Given the description of an element on the screen output the (x, y) to click on. 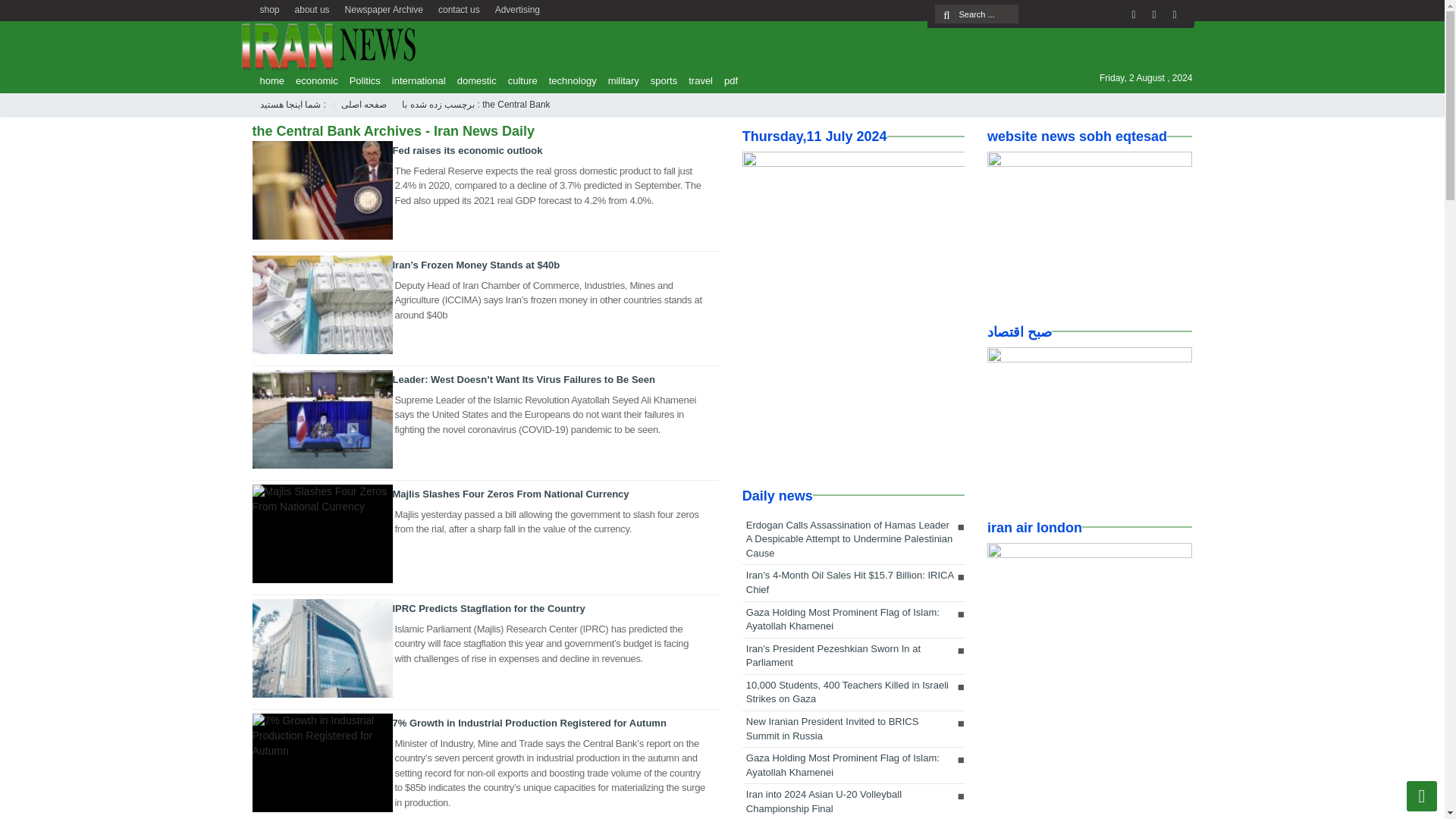
Iran News Daily (363, 104)
about us (311, 7)
military (619, 80)
international (414, 80)
Advertising (517, 7)
Fed raises its economic outlook (468, 150)
culture (518, 80)
home (267, 80)
domestic (472, 80)
technology (568, 80)
contact us (458, 7)
travel (697, 80)
economic (312, 80)
Politics (361, 80)
Newspaper Archive (383, 7)
